Given the description of an element on the screen output the (x, y) to click on. 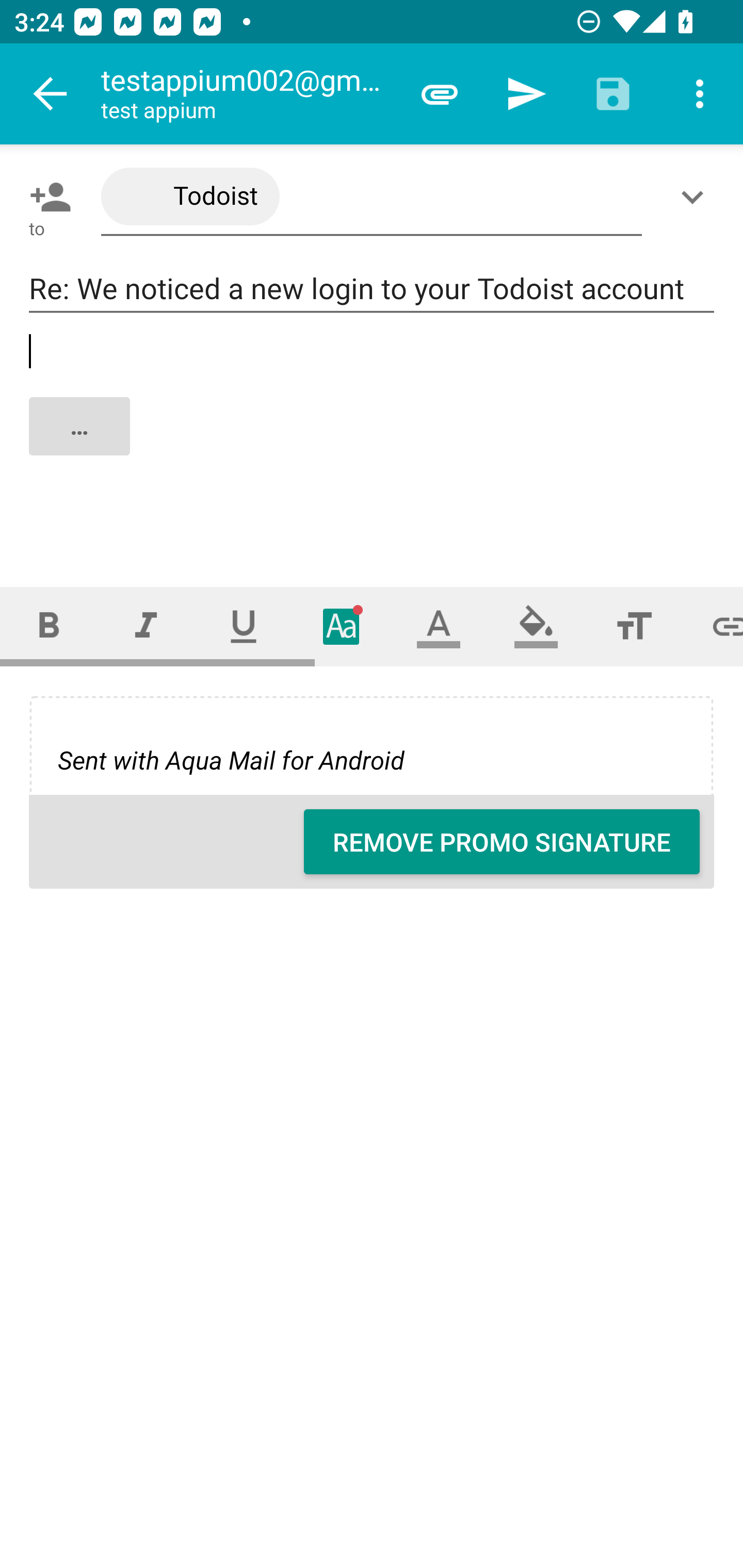
Navigate up (50, 93)
testappium002@gmail.com test appium (248, 93)
Attach (439, 93)
Send (525, 93)
Save (612, 93)
More options (699, 93)
Todoist <no-reply@todoist.com>,  (371, 197)
Pick contact: To (46, 196)
Show/Add CC/BCC (696, 196)
Re: We noticed a new login to your Todoist account (371, 288)

…
 (372, 442)
Bold (48, 626)
Italic (145, 626)
Underline (243, 626)
Typeface (font) (341, 626)
Text color (438, 626)
Fill color (536, 626)
Font size (633, 626)
REMOVE PROMO SIGNATURE (501, 841)
